Given the description of an element on the screen output the (x, y) to click on. 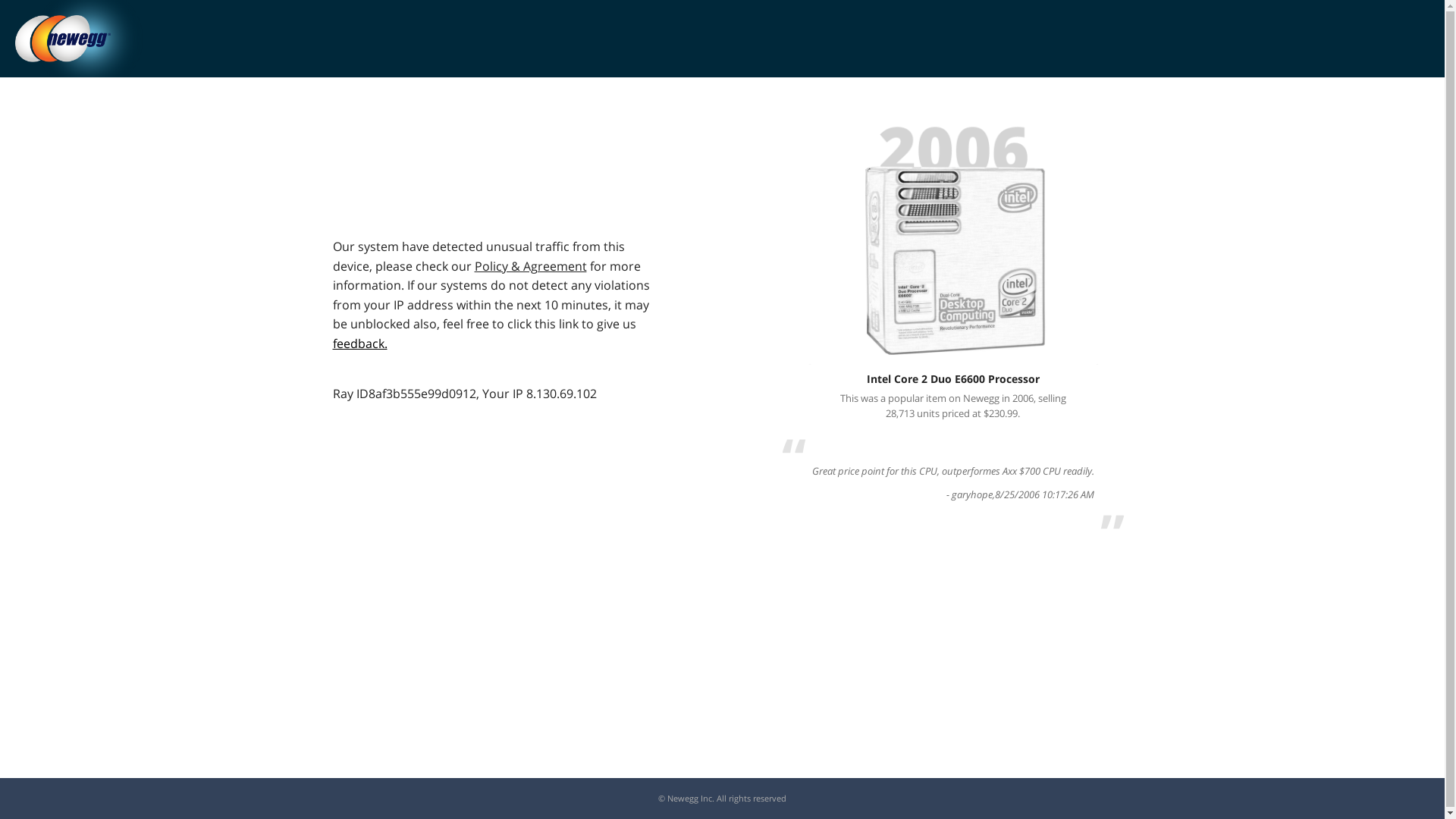
feedback (359, 343)
feedback. (359, 343)
